Given the description of an element on the screen output the (x, y) to click on. 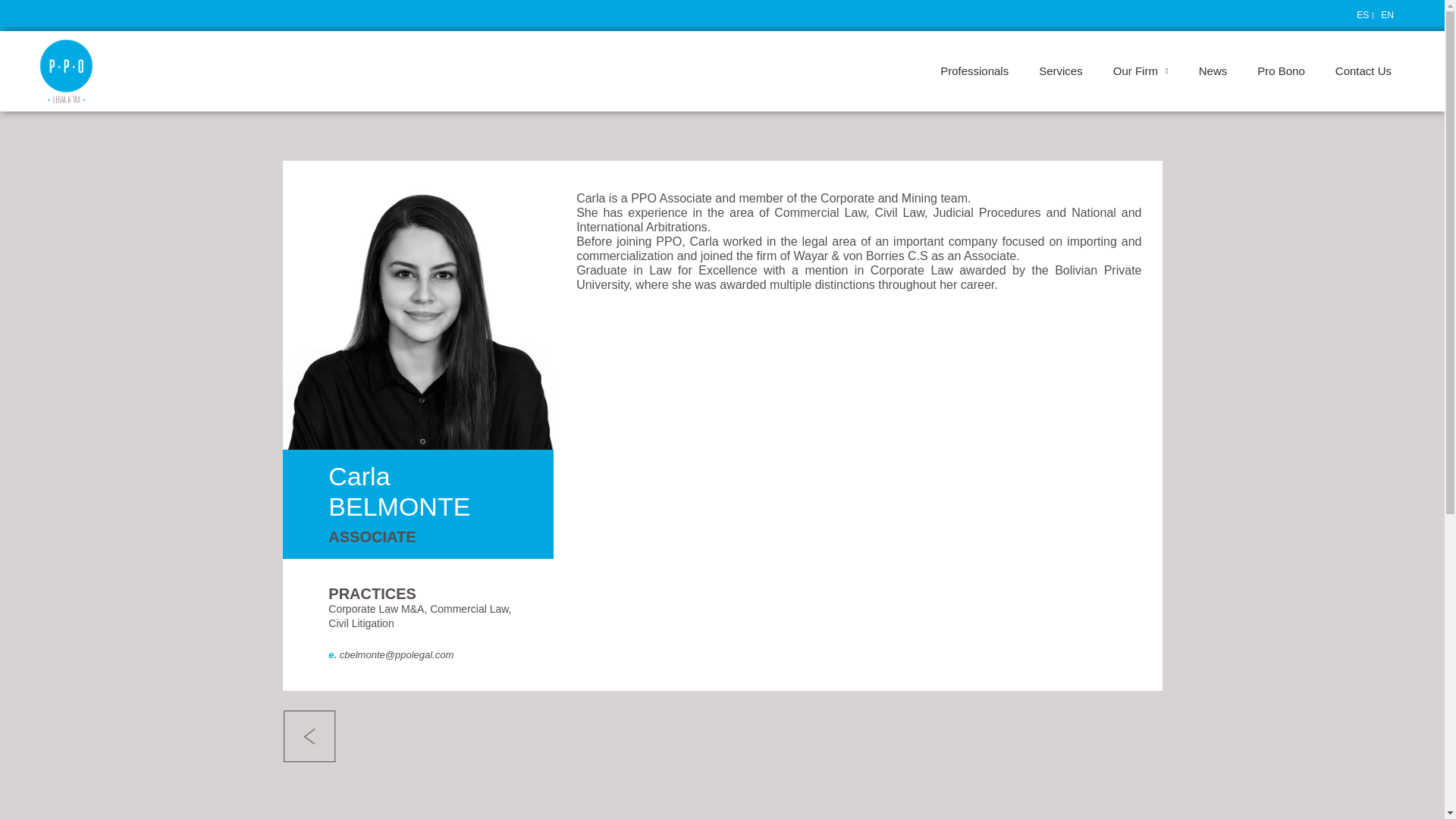
Pro Bono (1280, 71)
Our Firm (1140, 71)
News (1213, 71)
ES (1360, 15)
Contact Us (1363, 71)
Services (1060, 71)
Professionals (973, 71)
EN (1385, 15)
